Given the description of an element on the screen output the (x, y) to click on. 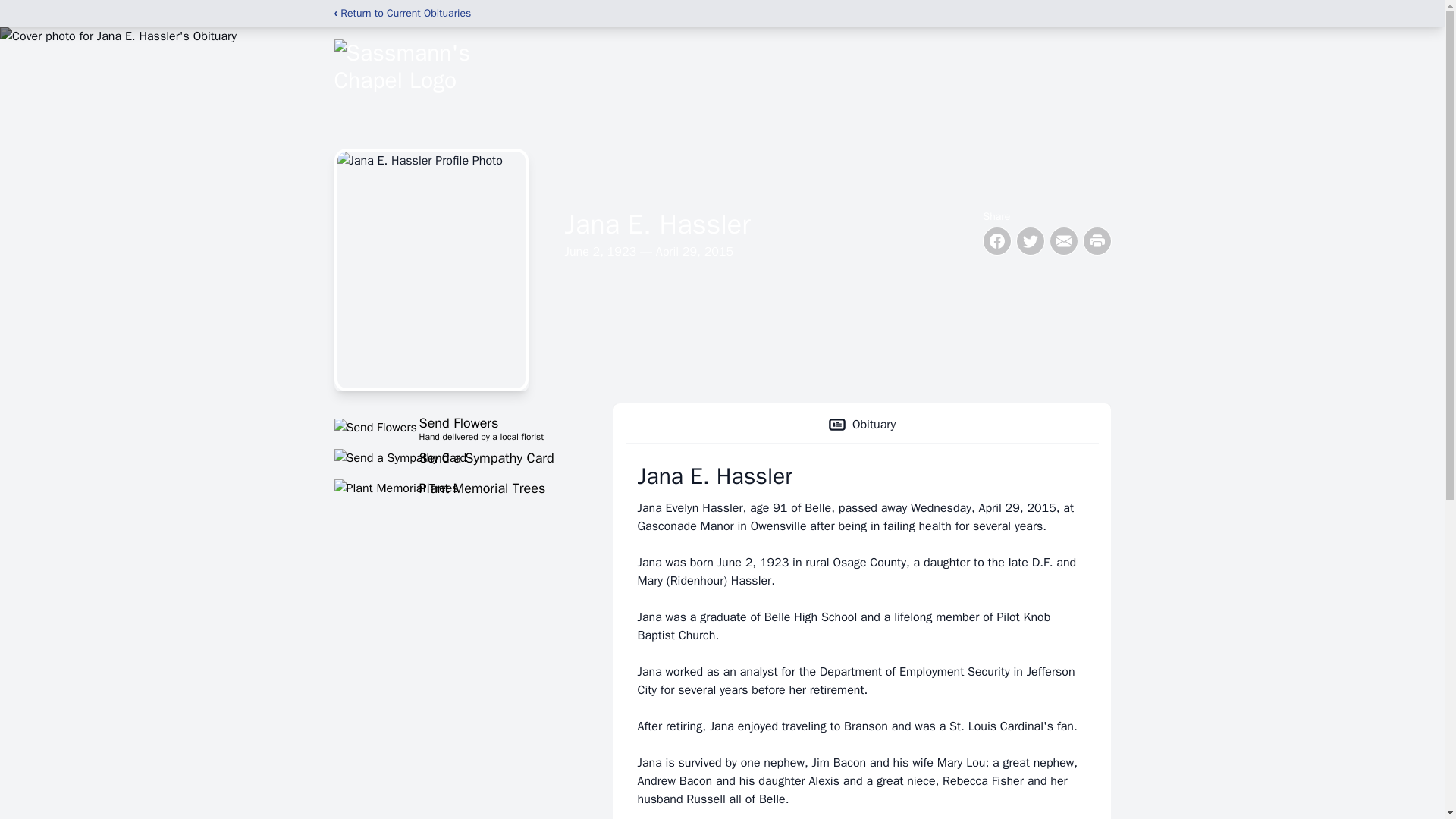
Plant Memorial Trees (454, 488)
Obituary (860, 425)
Send a Sympathy Card (454, 427)
